Given the description of an element on the screen output the (x, y) to click on. 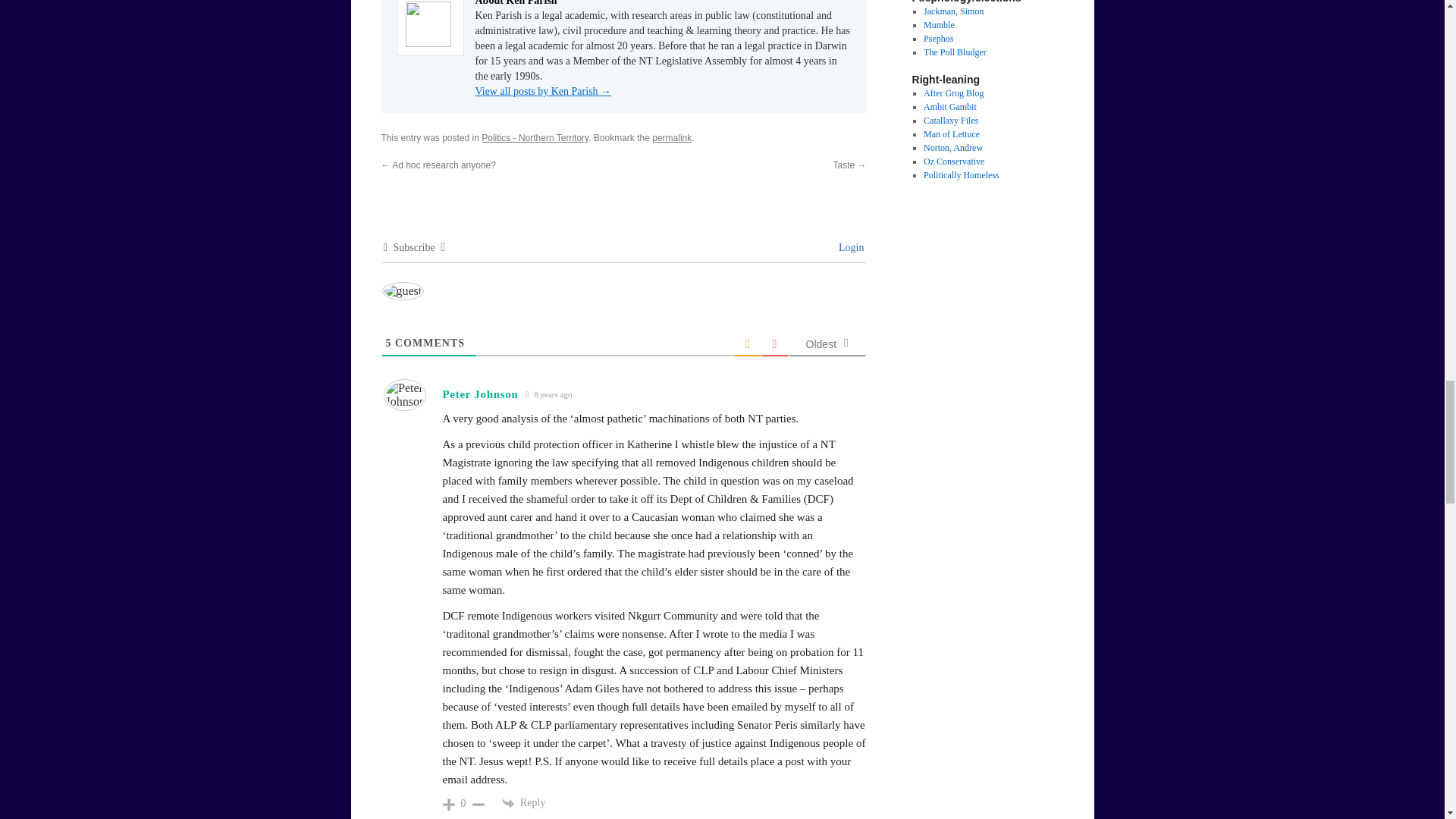
permalink (671, 137)
Politics - Northern Territory (534, 137)
Login (849, 247)
